Given the description of an element on the screen output the (x, y) to click on. 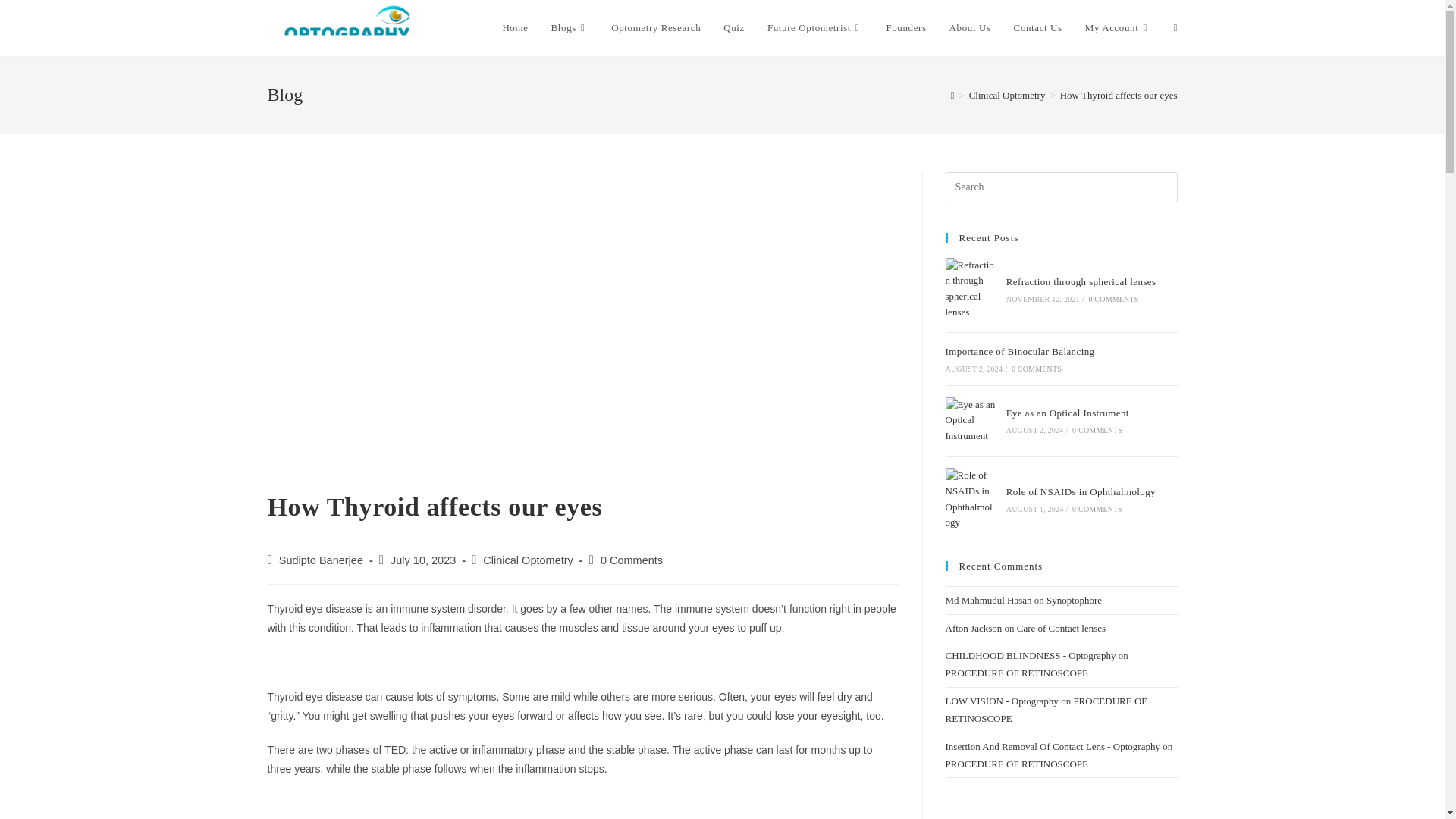
Clinical Optometry (1007, 94)
Contact Us (1038, 28)
Optometry Research (655, 28)
Blogs (569, 28)
How Thyroid affects our eyes (1118, 94)
Eye as an Optical Instrument (969, 420)
Founders (906, 28)
My Account (1117, 28)
Clinical Optometry (527, 560)
Future Optometrist (815, 28)
